Given the description of an element on the screen output the (x, y) to click on. 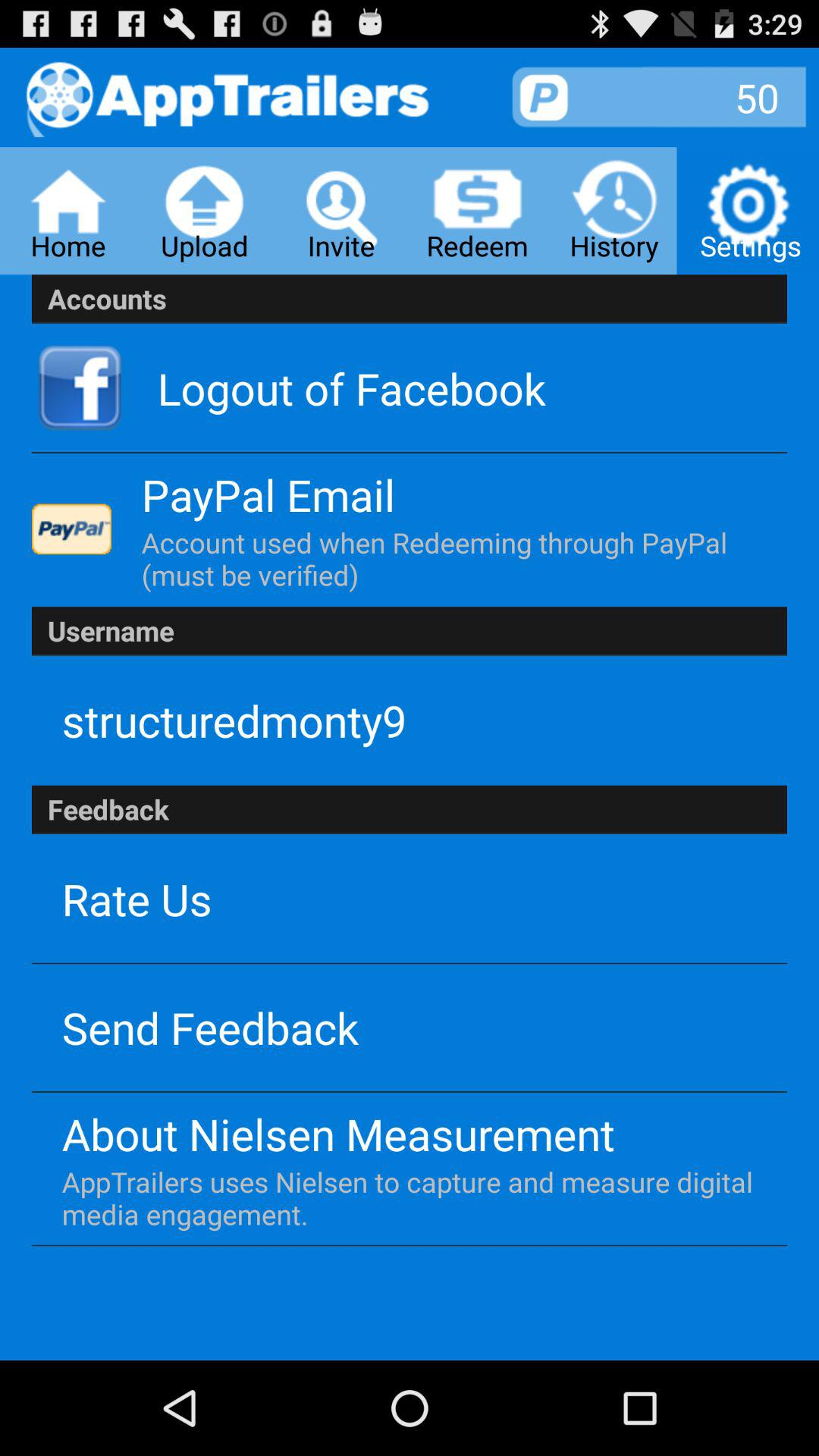
launch item above paypal email app (351, 387)
